Given the description of an element on the screen output the (x, y) to click on. 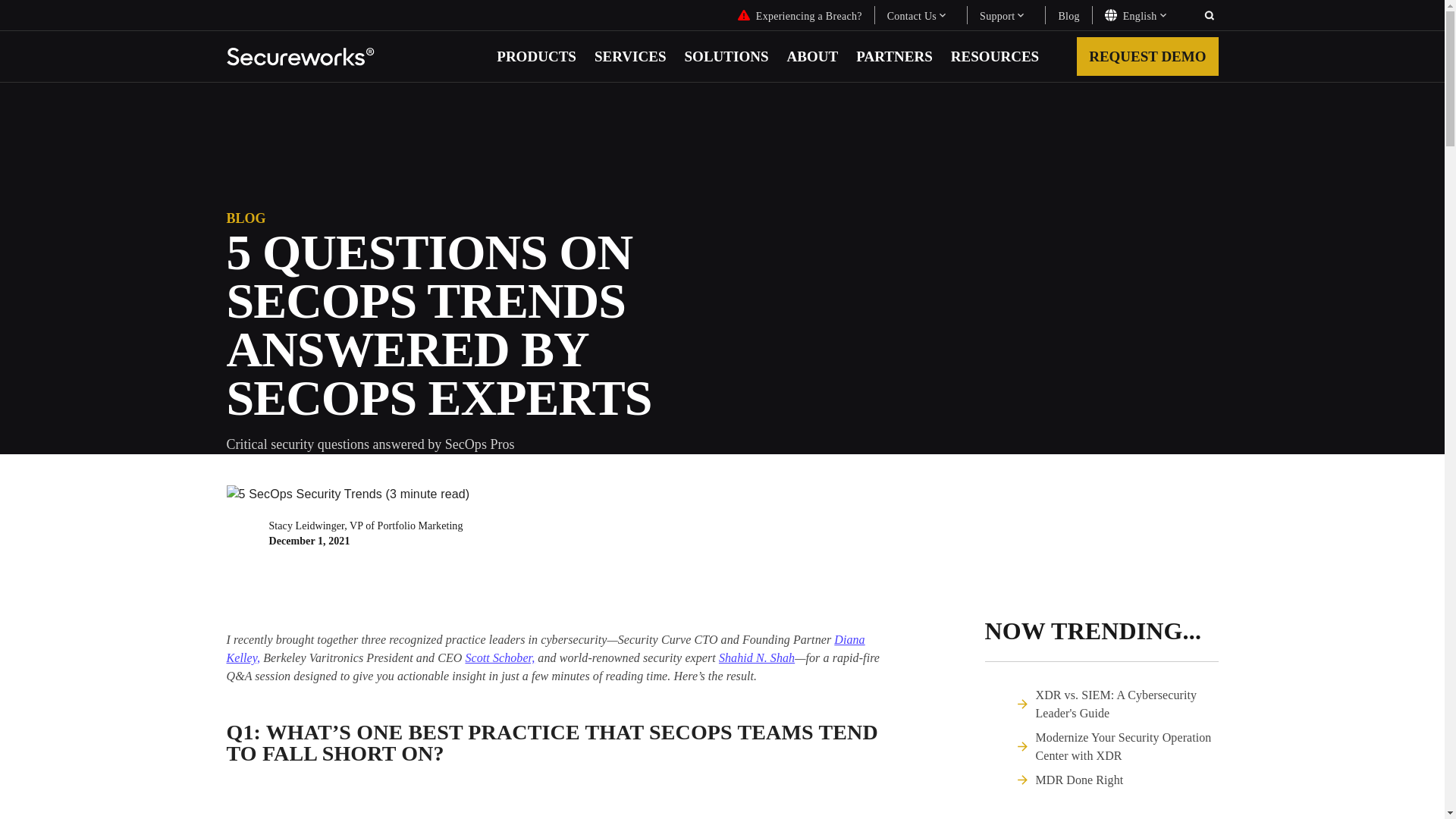
Modernize Your Security Operation Center with XDR (1126, 746)
XDR vs. SIEM: A Cybersecurity Leader's Guide (1126, 704)
Modernize Your Security Operation Center with XDR (1126, 746)
Search Secureworks.com (1208, 14)
RESOURCES (994, 56)
XDR vs. SIEM: A Cybersecurity Leader's Guide (1126, 704)
SOLUTIONS (726, 56)
English (1148, 14)
PARTNERS (894, 56)
REQUEST DEMO (1147, 56)
Diana Kelley, (544, 648)
Scott Schober, (499, 657)
ABOUT (812, 56)
Shahid N. Shah (756, 657)
MDR Done Right (1079, 780)
